Given the description of an element on the screen output the (x, y) to click on. 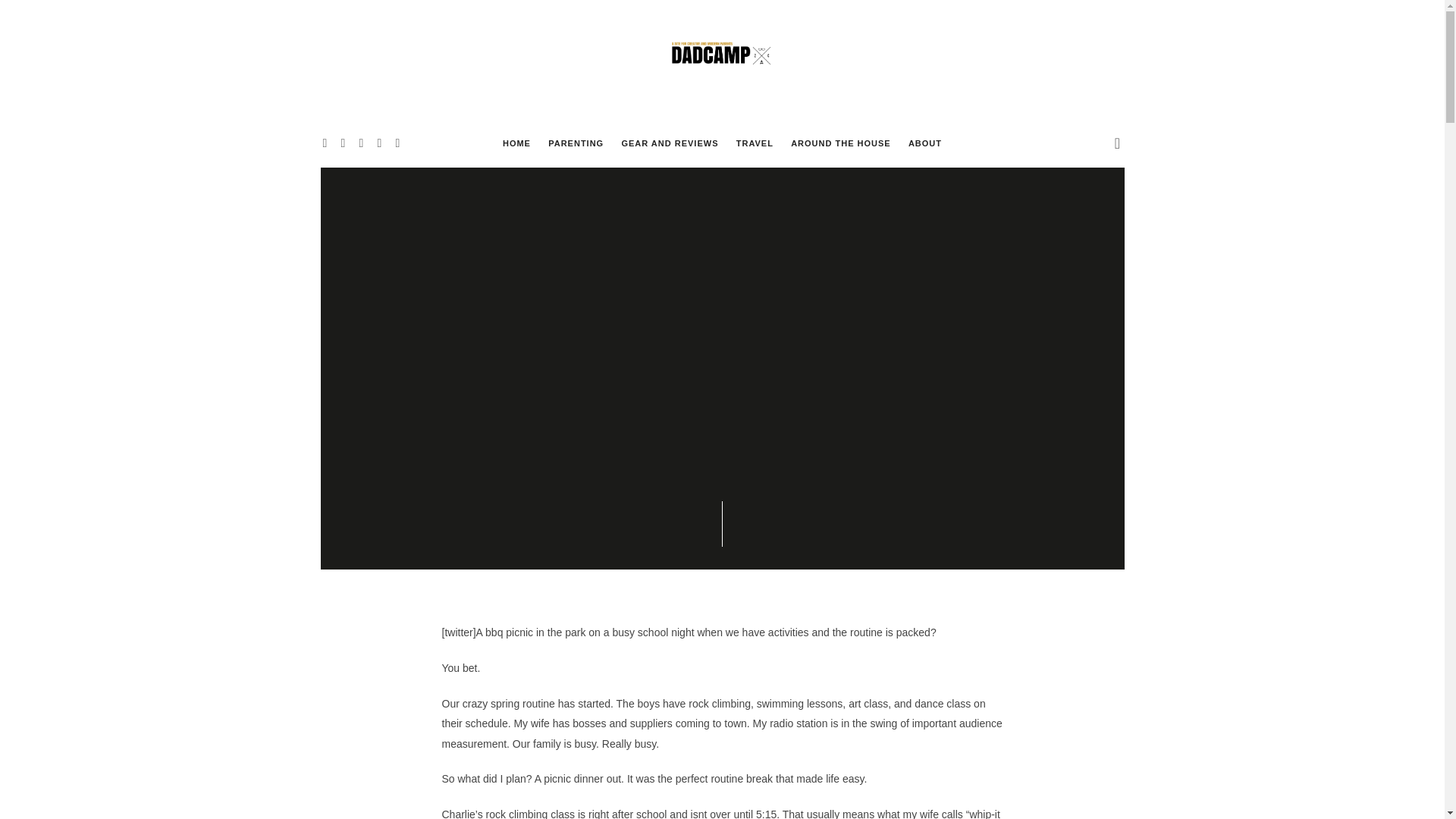
DadCAMP (721, 58)
PARENTING (576, 142)
GEAR AND REVIEWS (669, 142)
